Given the description of an element on the screen output the (x, y) to click on. 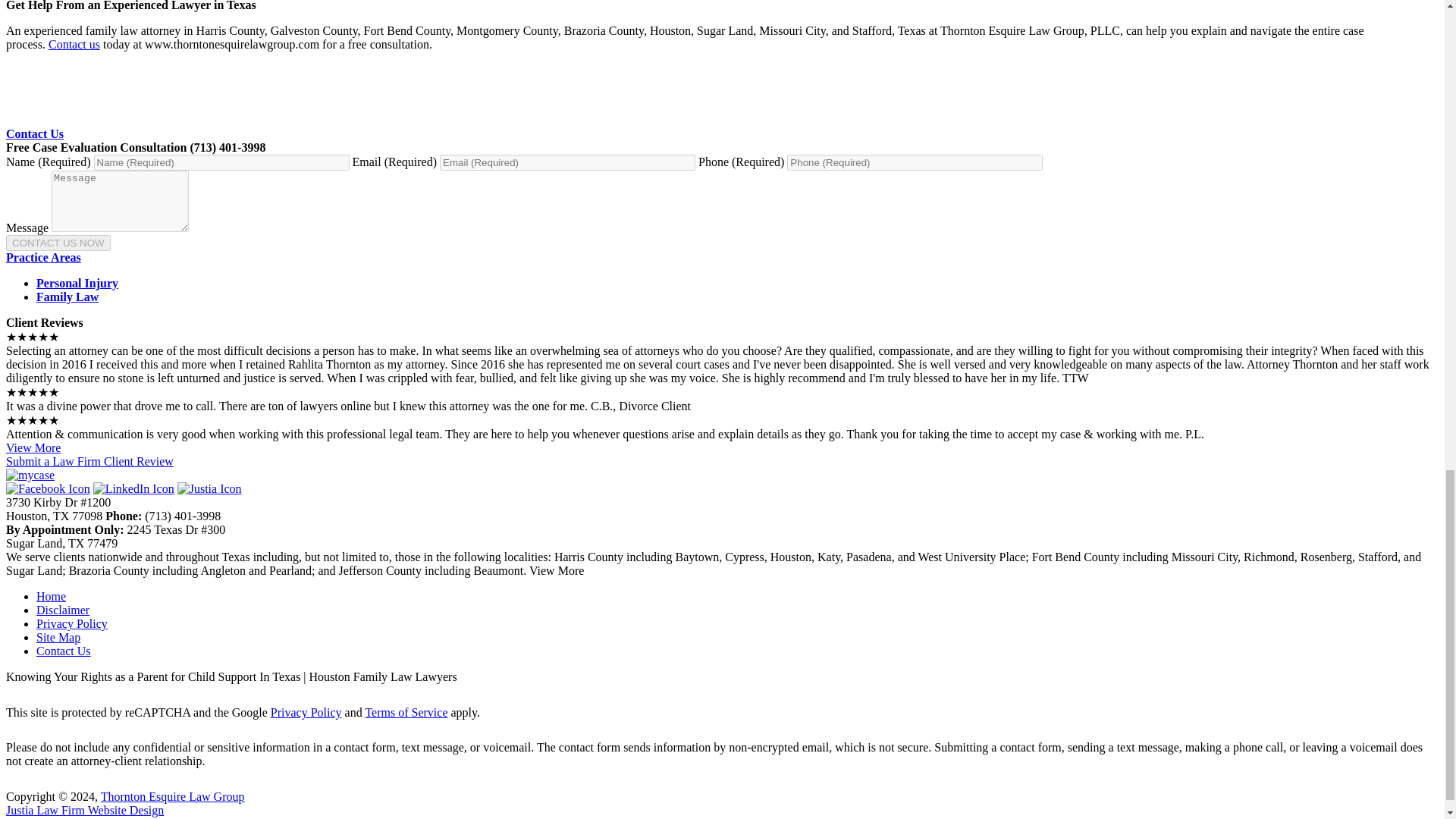
Disclaimer (62, 609)
Privacy Policy (71, 623)
Justia Law Firm Website Design (84, 809)
Submit a Law Firm Client Review (89, 461)
Personal Injury (76, 282)
Contact Us (34, 133)
Justia (209, 488)
Site Map (58, 636)
Family Law (67, 296)
Practice Areas (43, 256)
Home (50, 595)
LinkedIn (133, 488)
Contact us (74, 43)
Terms of Service (405, 712)
CONTACT US NOW (57, 242)
